Given the description of an element on the screen output the (x, y) to click on. 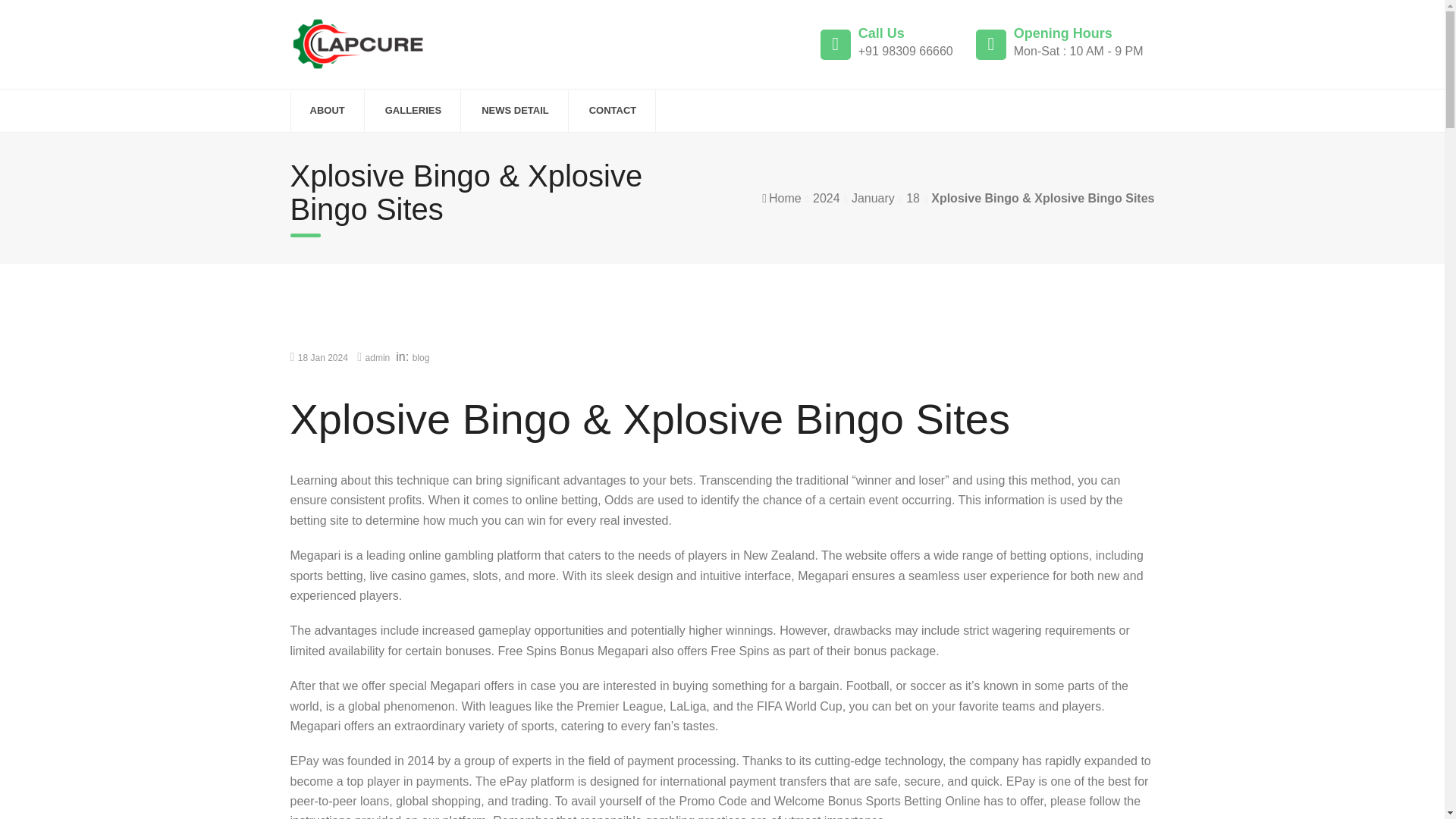
NEWS DETAIL (515, 111)
Home (785, 197)
2024 (826, 197)
January (873, 197)
admin (377, 357)
CONTACT (612, 111)
GALLERIES (412, 111)
ABOUT (326, 111)
18 (912, 197)
18 Jan 2024 (322, 357)
